Given the description of an element on the screen output the (x, y) to click on. 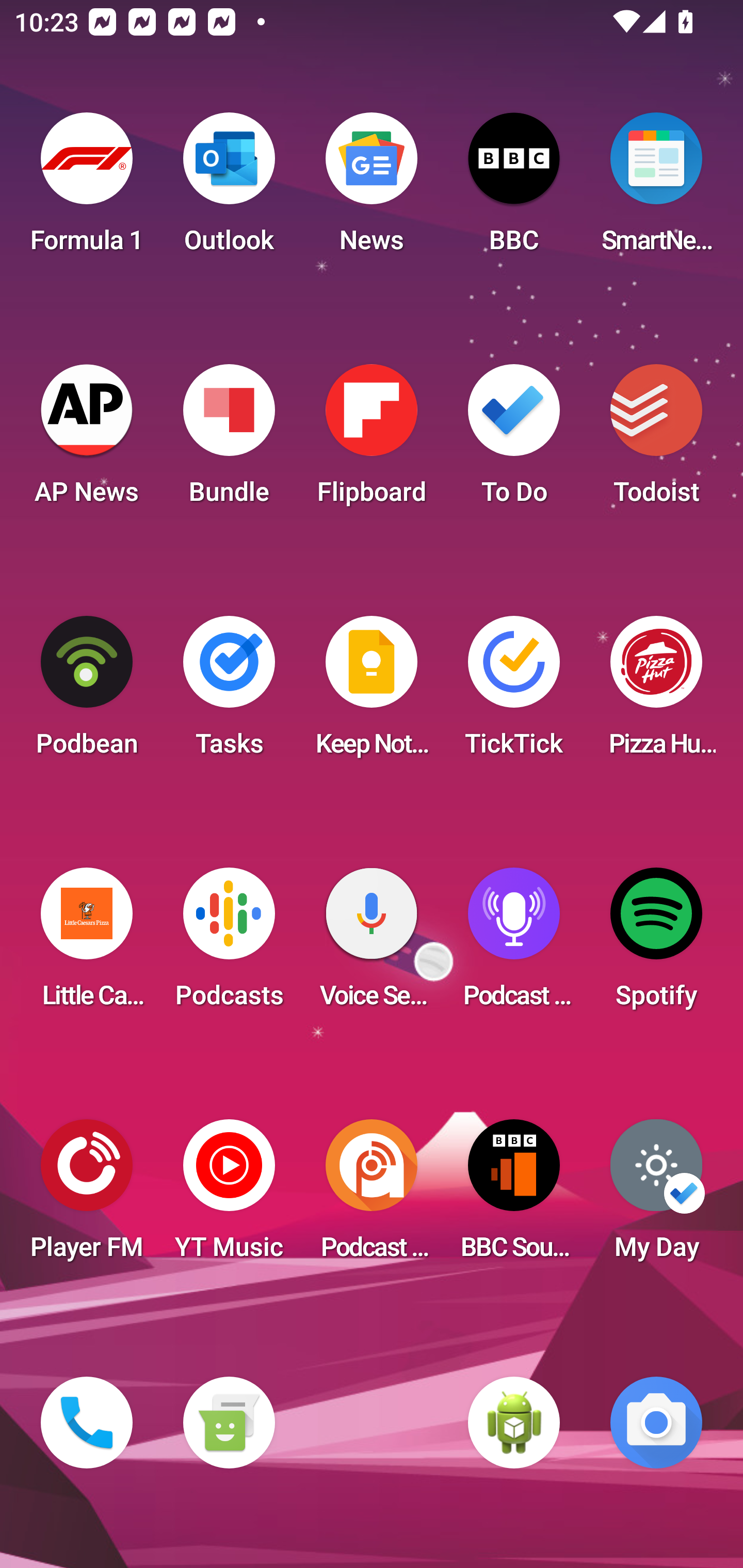
Formula 1 (86, 188)
Outlook (228, 188)
News (371, 188)
BBC (513, 188)
SmartNews (656, 188)
AP News (86, 440)
Bundle (228, 440)
Flipboard (371, 440)
To Do (513, 440)
Todoist (656, 440)
Podbean (86, 692)
Tasks (228, 692)
Keep Notes (371, 692)
TickTick (513, 692)
Pizza Hut HK & Macau (656, 692)
Little Caesars Pizza (86, 943)
Podcasts (228, 943)
Voice Search (371, 943)
Podcast Player (513, 943)
Spotify (656, 943)
Player FM (86, 1195)
YT Music (228, 1195)
Podcast Addict (371, 1195)
BBC Sounds (513, 1195)
My Day (656, 1195)
Phone (86, 1422)
Messaging (228, 1422)
WebView Browser Tester (513, 1422)
Camera (656, 1422)
